Given the description of an element on the screen output the (x, y) to click on. 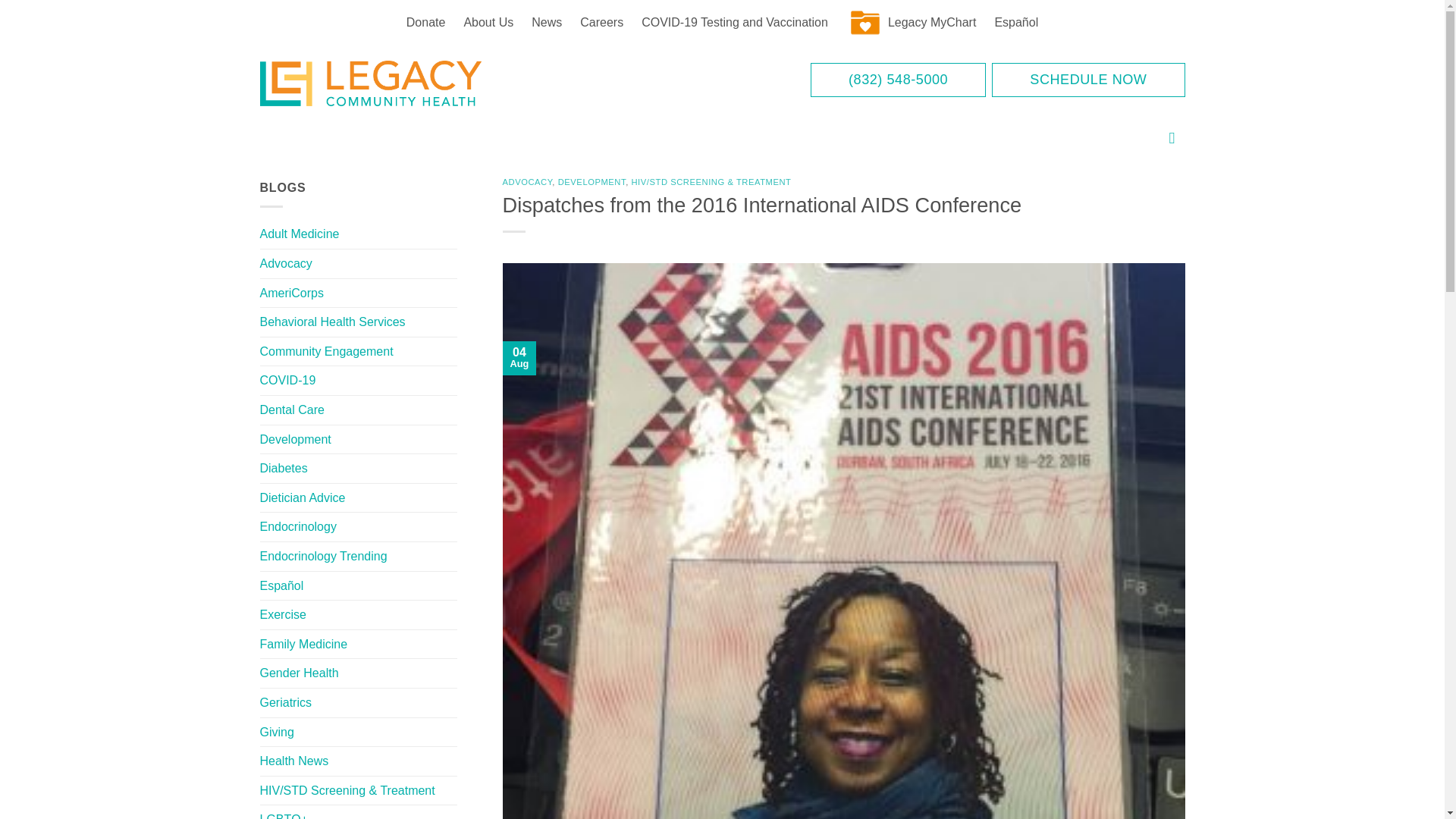
News (546, 22)
Legacy Community Health - Legacy Community Health (394, 83)
Careers (600, 22)
Donate (425, 22)
SCHEDULE NOW (1088, 80)
Legacy MyChart (911, 22)
About Us (488, 22)
COVID-19 Testing and Vaccination (734, 22)
